Given the description of an element on the screen output the (x, y) to click on. 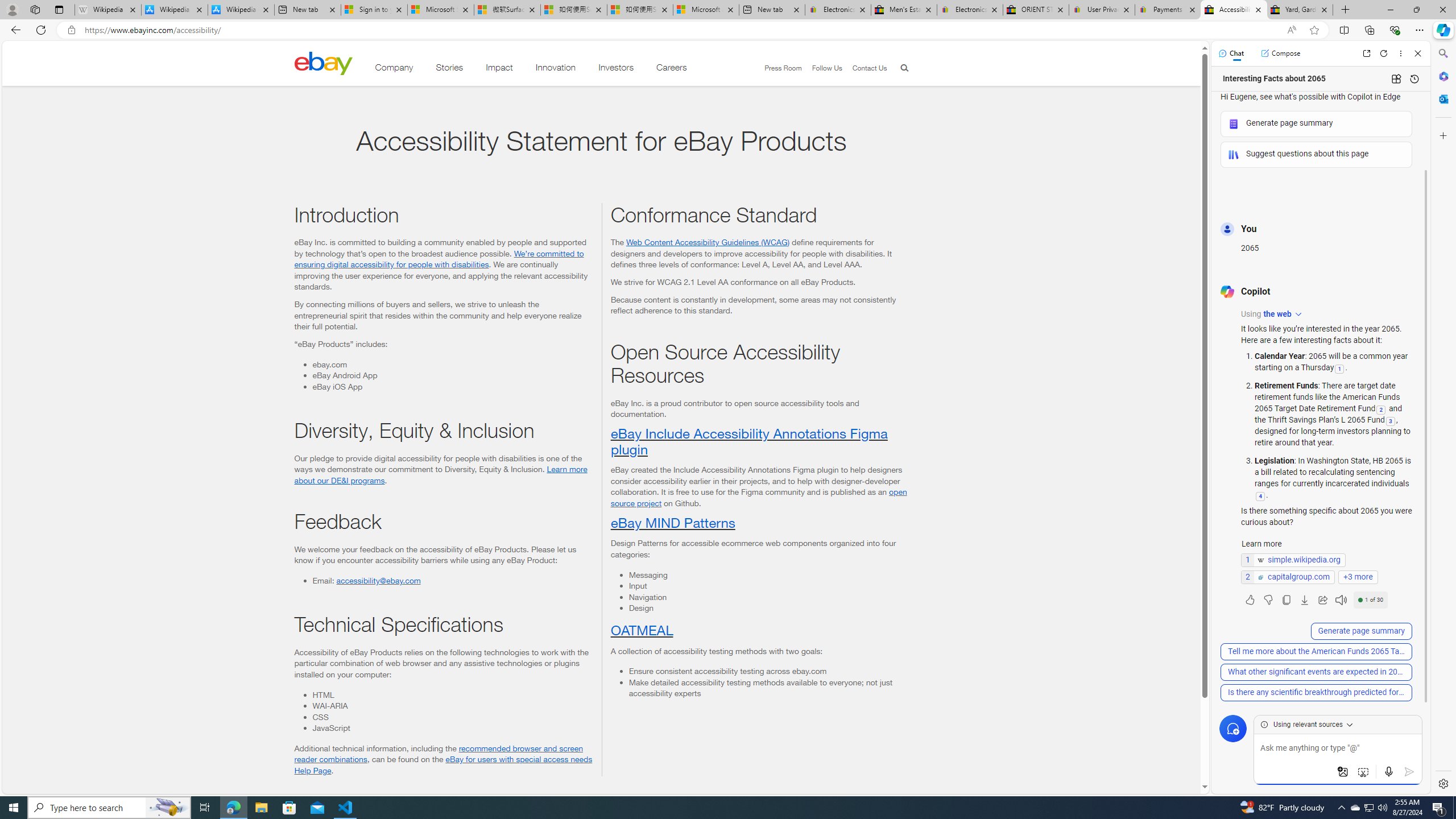
HTML (451, 694)
Accessibility - eBay Inc. (1233, 9)
Email: accessibility@ebay.com (451, 580)
Press Room (778, 68)
JavaScript (451, 727)
Impact (499, 69)
